Given the description of an element on the screen output the (x, y) to click on. 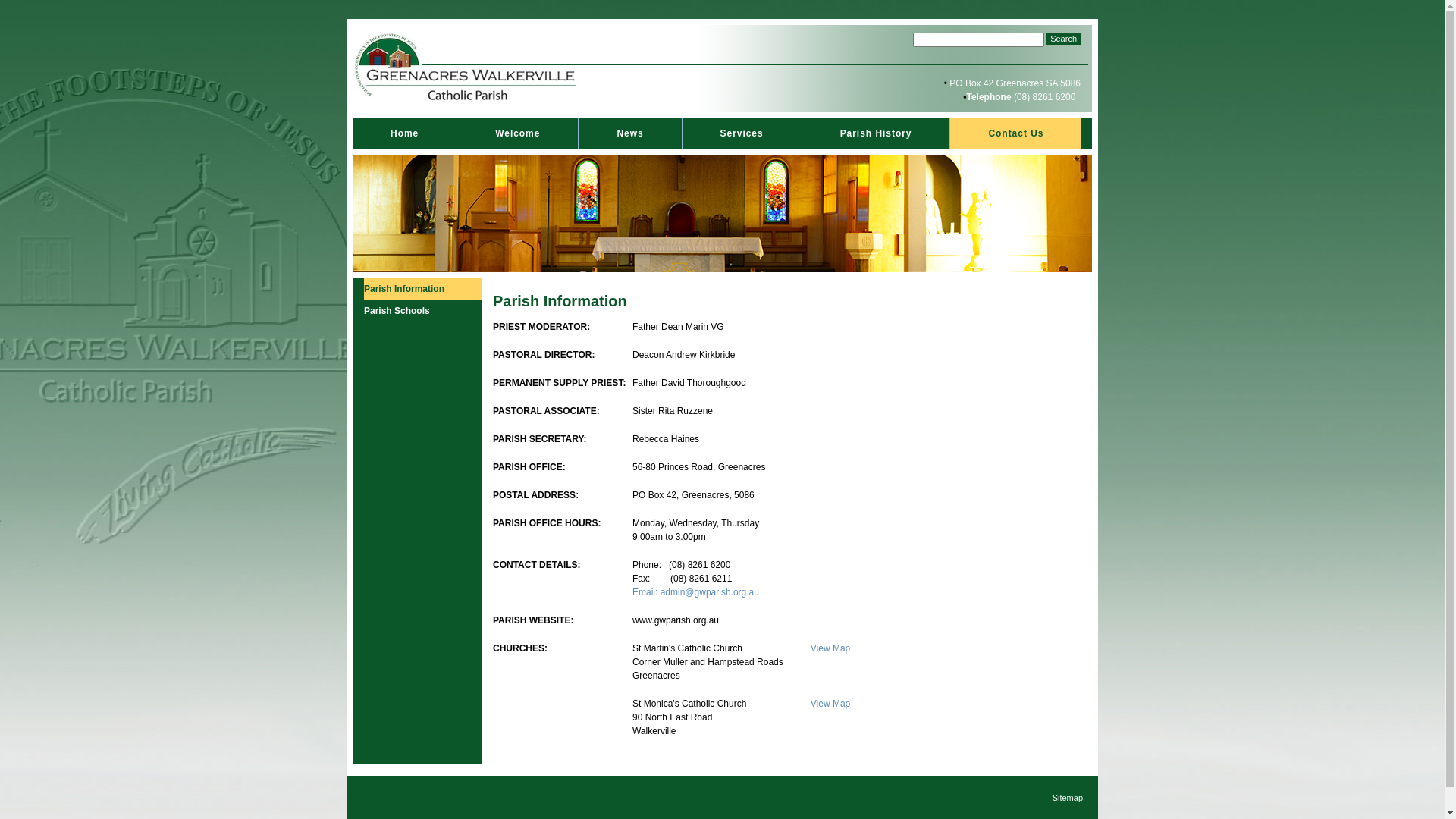
View Map Element type: text (830, 648)
StMonicasHeaderLogo.jpg Element type: hover (466, 68)
Contact Us Element type: text (1015, 133)
Our-Parish.jpg Element type: hover (722, 213)
Parish History Element type: text (876, 133)
Email: admin@gwparish.org.au Element type: text (695, 591)
Parish Information Element type: text (422, 288)
Services Element type: text (741, 133)
Parish Schools Element type: text (422, 310)
Sitemap Element type: text (1067, 797)
News Element type: text (629, 133)
View Map Element type: text (830, 703)
Welcome Element type: text (517, 133)
Home Element type: text (404, 133)
Search Element type: text (1063, 38)
